Given the description of an element on the screen output the (x, y) to click on. 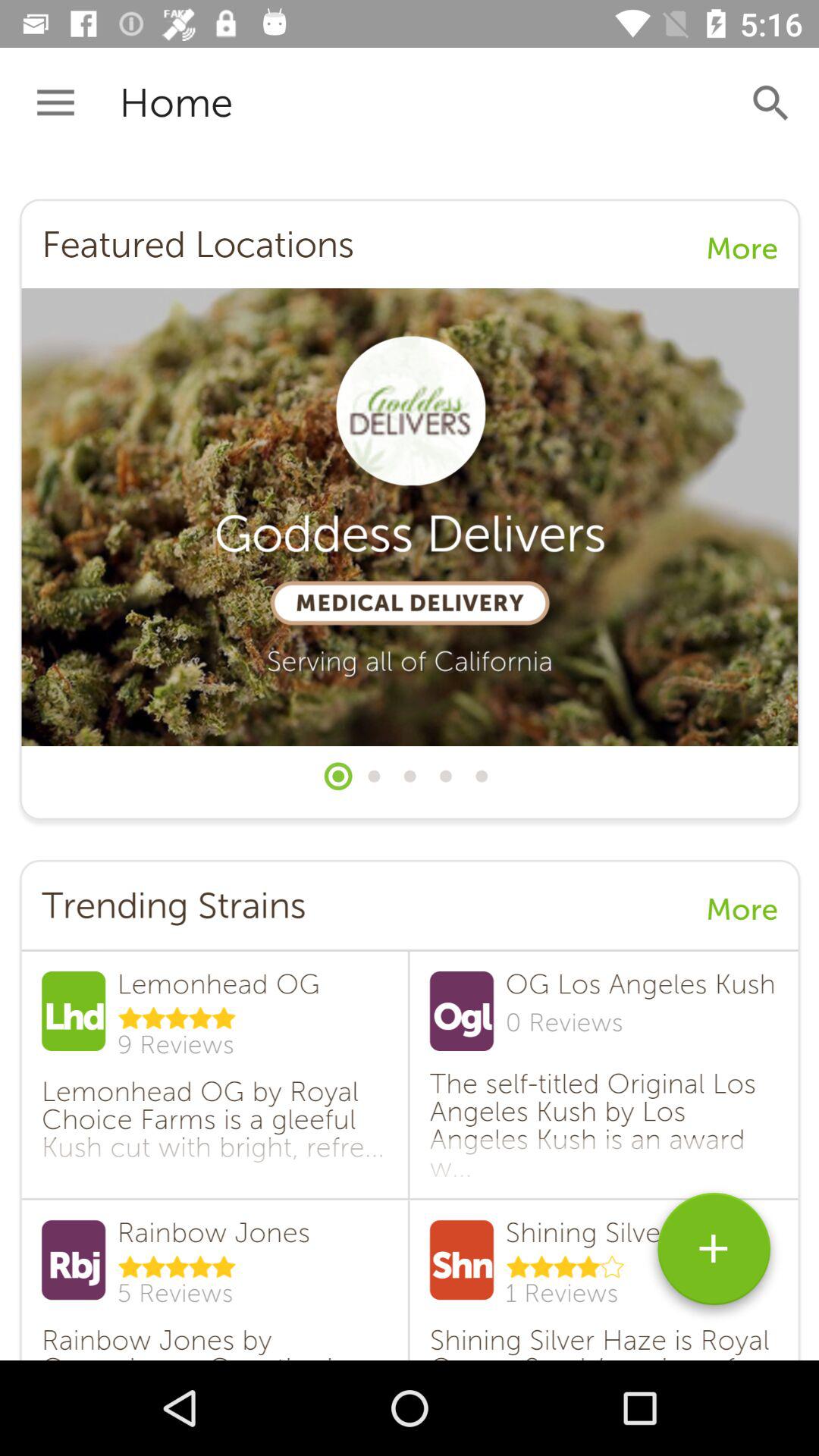
find more trending strains (713, 1254)
